Given the description of an element on the screen output the (x, y) to click on. 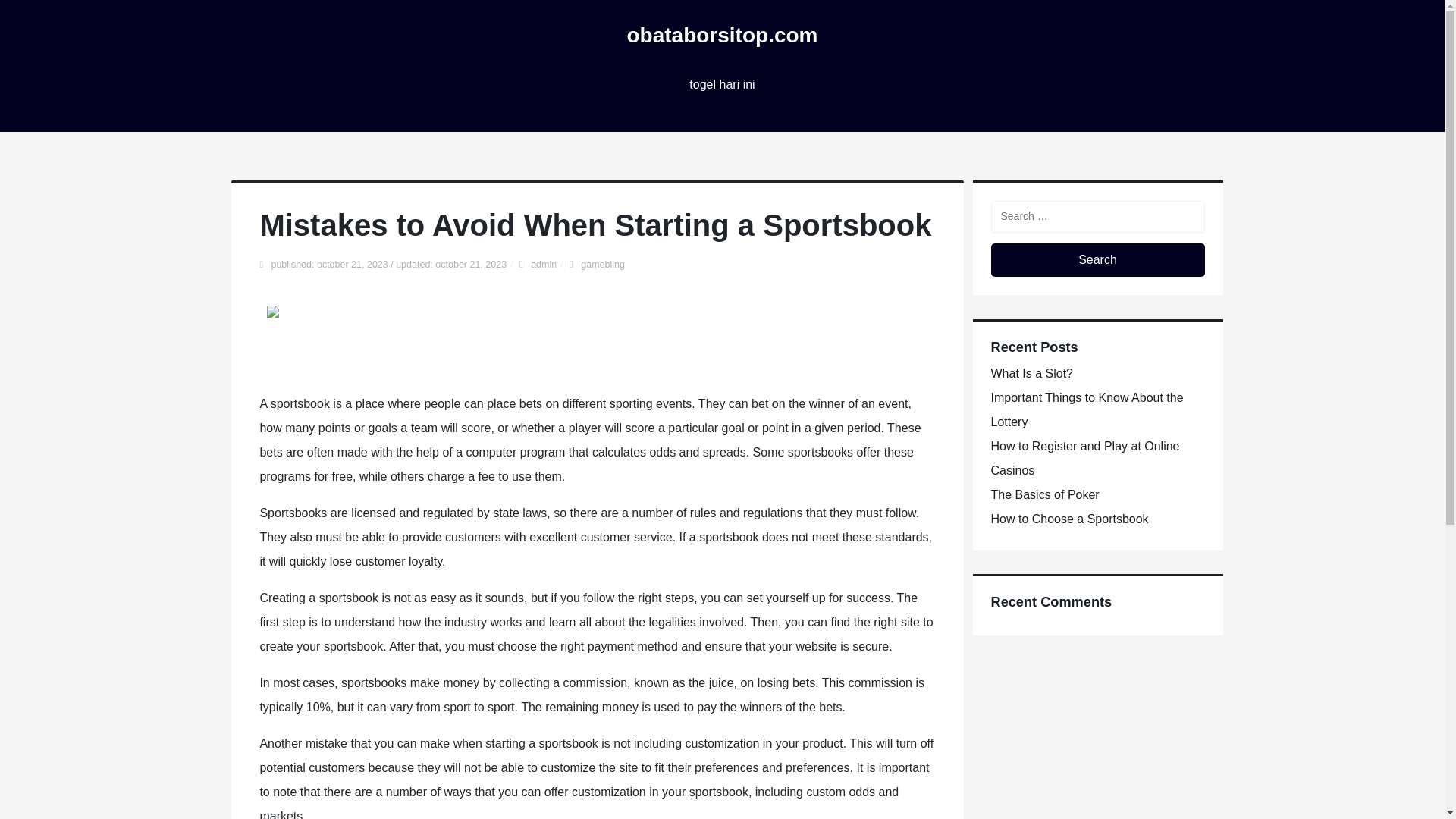
The Basics of Poker (1044, 494)
Search (1097, 259)
How to Choose a Sportsbook (1069, 518)
Search (1097, 259)
Important Things to Know About the Lottery (1086, 409)
What Is a Slot? (1031, 373)
obataborsitop.com (721, 34)
Search (1097, 259)
How to Register and Play at Online Casinos (1084, 457)
gamebling (602, 264)
